Given the description of an element on the screen output the (x, y) to click on. 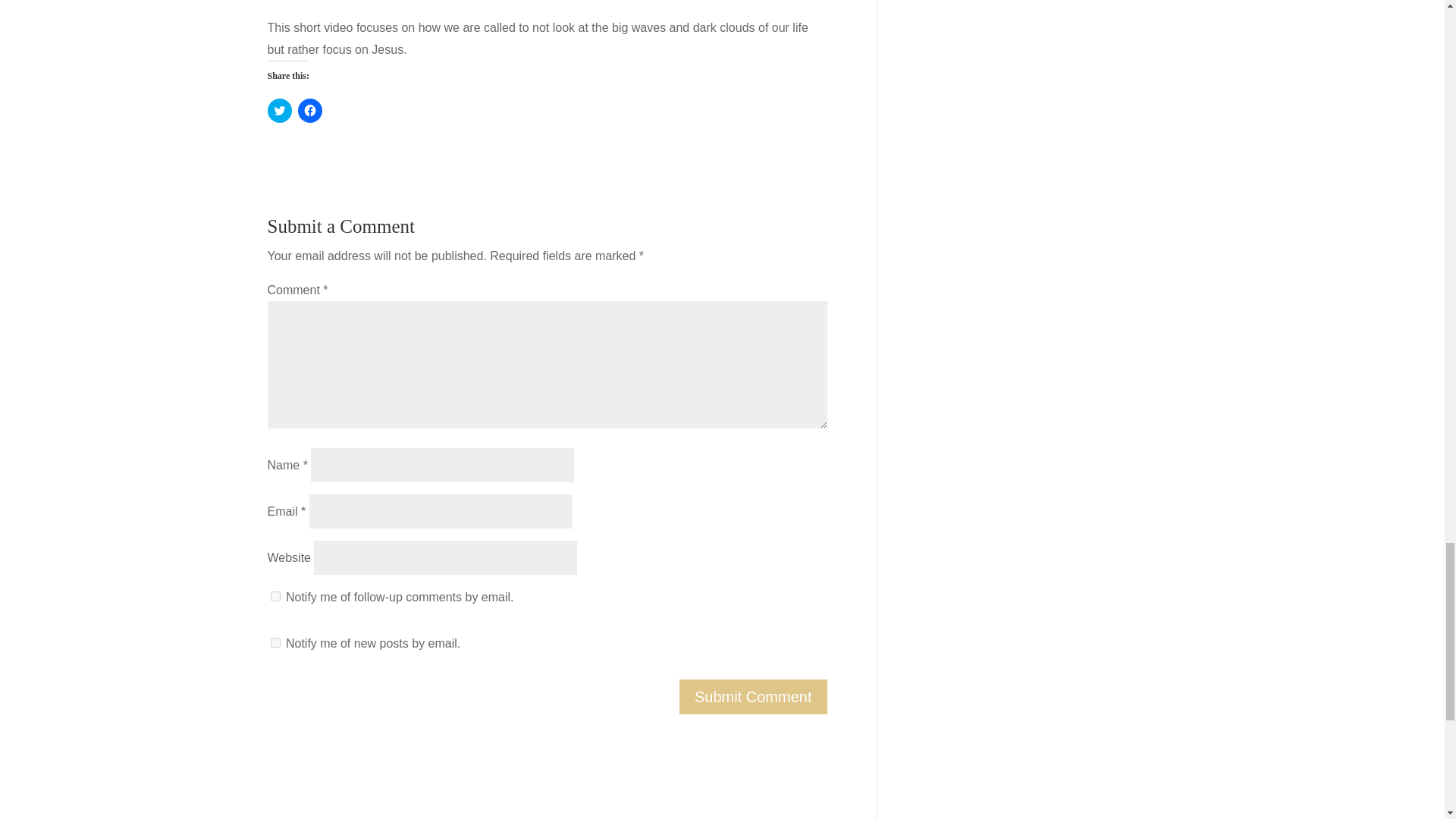
subscribe (274, 642)
Submit Comment (753, 696)
Click to share on Facebook (309, 110)
Submit Comment (753, 696)
Click to share on Twitter (278, 110)
subscribe (274, 596)
